Given the description of an element on the screen output the (x, y) to click on. 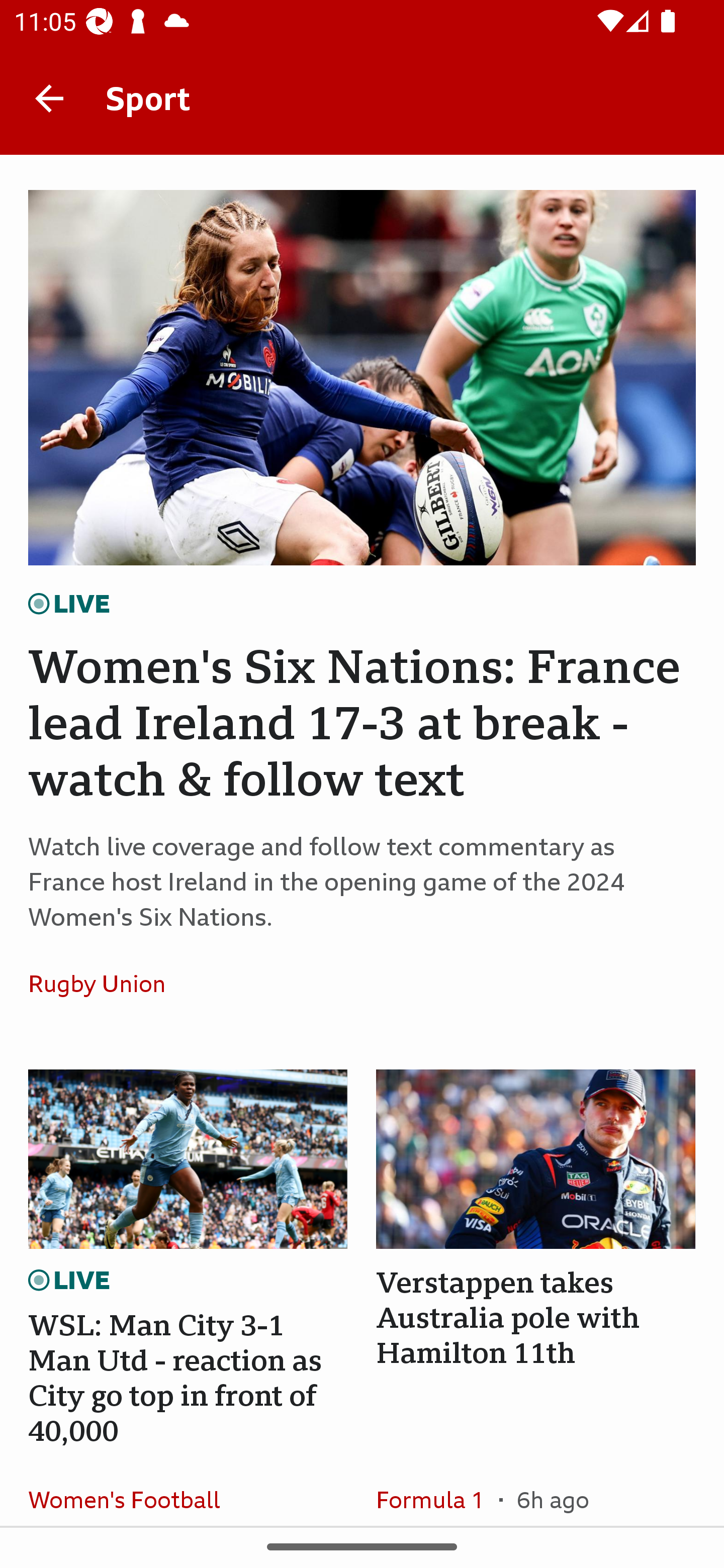
Back (49, 97)
Rugby Union In the section Rugby Union (104, 983)
Women's Football In the section Women's Football (131, 1486)
Formula 1 In the section Formula 1 (437, 1486)
